Given the description of an element on the screen output the (x, y) to click on. 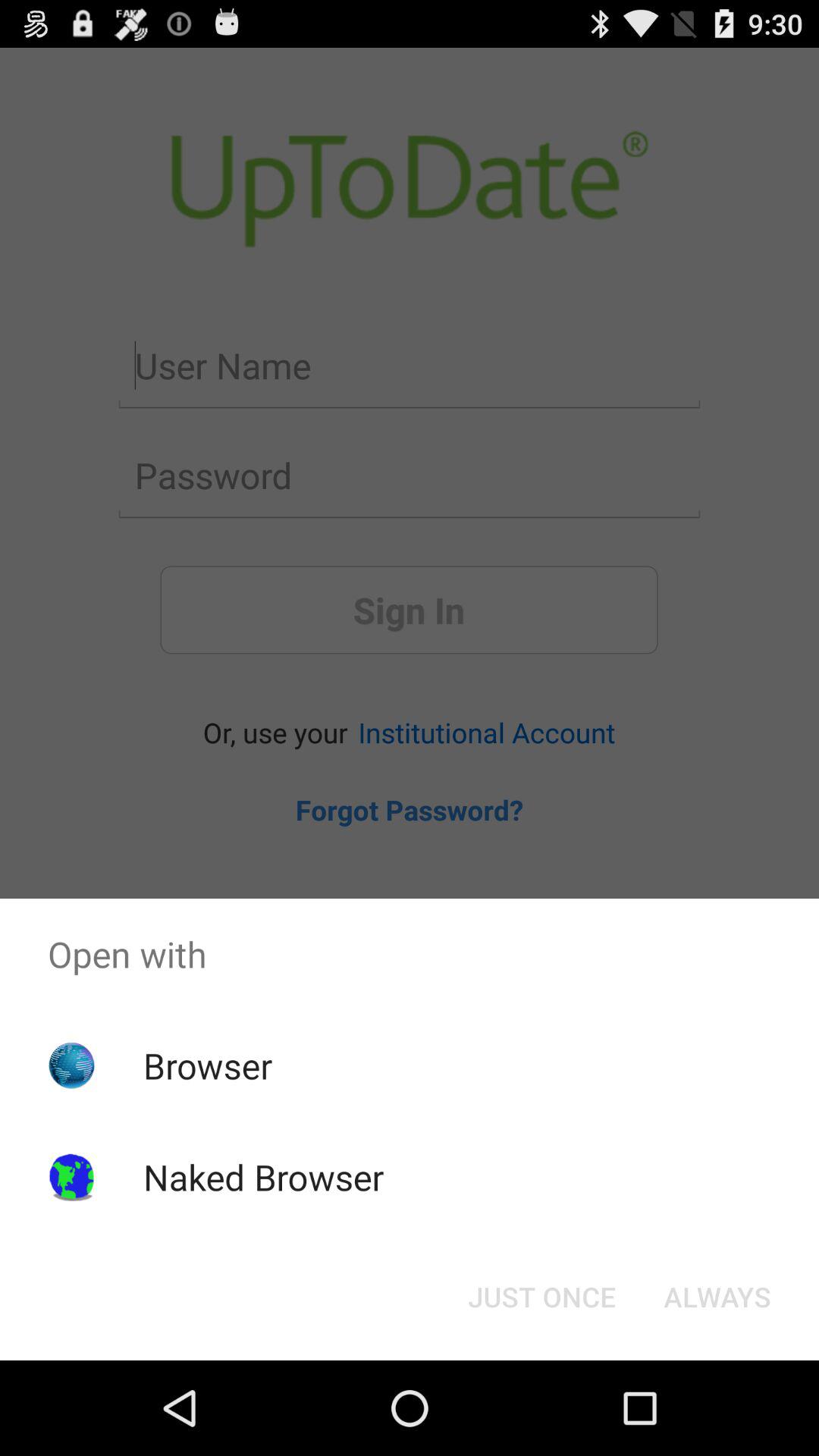
turn off the button at the bottom right corner (717, 1296)
